Given the description of an element on the screen output the (x, y) to click on. 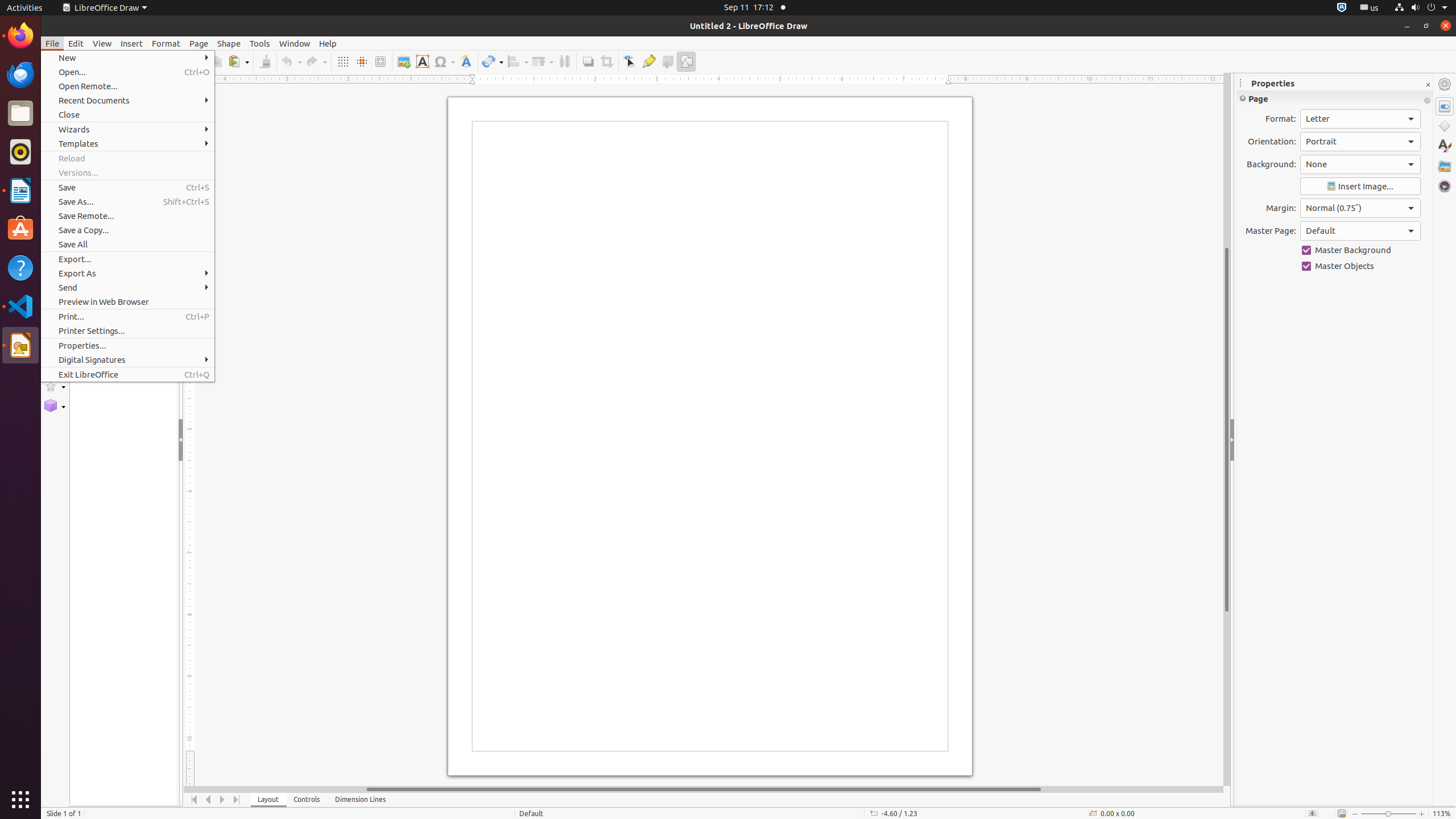
Transformations Element type: push-button (492, 61)
Grid Element type: toggle-button (342, 61)
Window Element type: menu (294, 43)
Clone Element type: push-button (264, 61)
Toggle Extrusion Element type: push-button (667, 61)
